Given the description of an element on the screen output the (x, y) to click on. 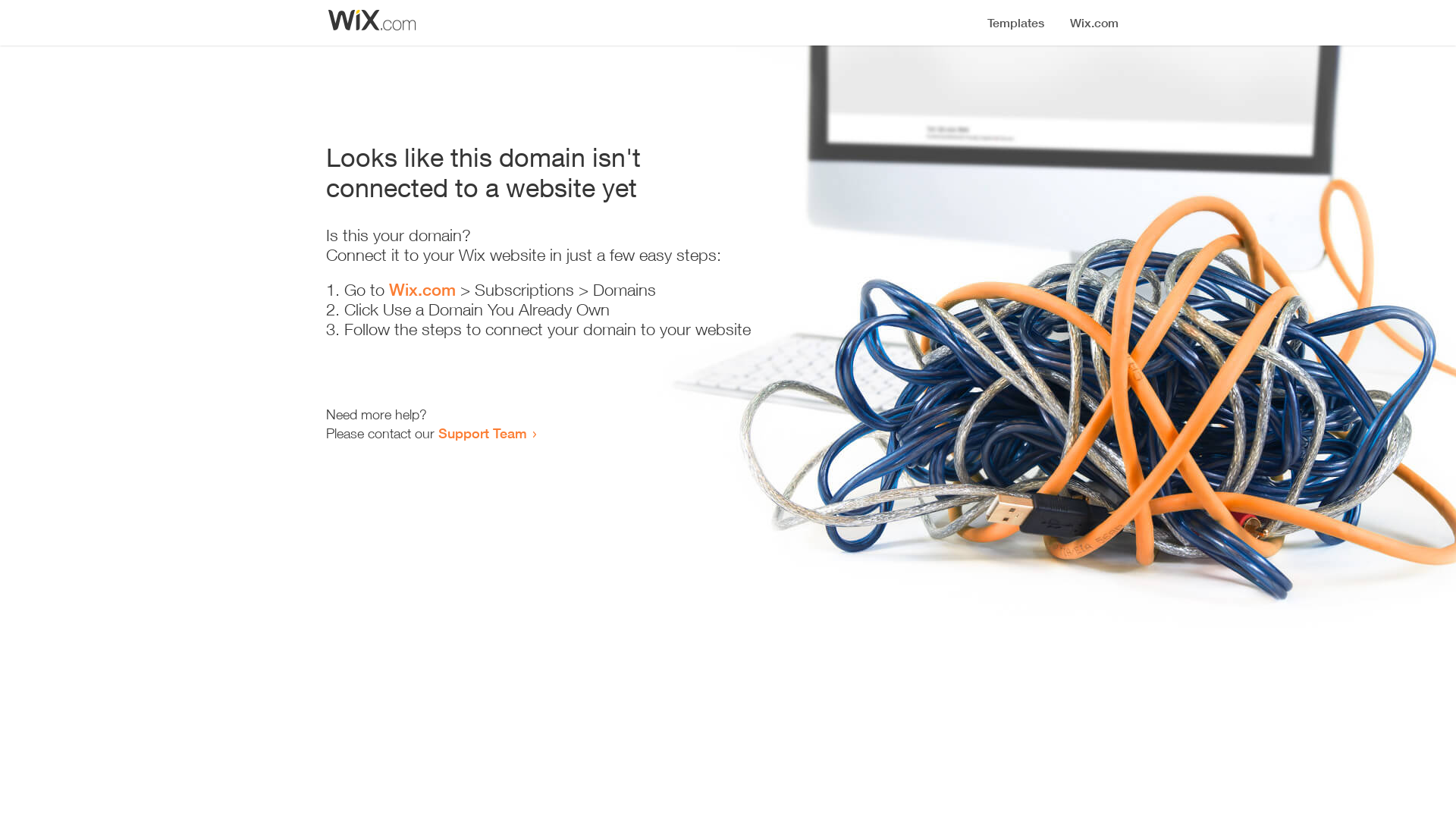
Wix.com Element type: text (422, 289)
Support Team Element type: text (482, 432)
